Given the description of an element on the screen output the (x, y) to click on. 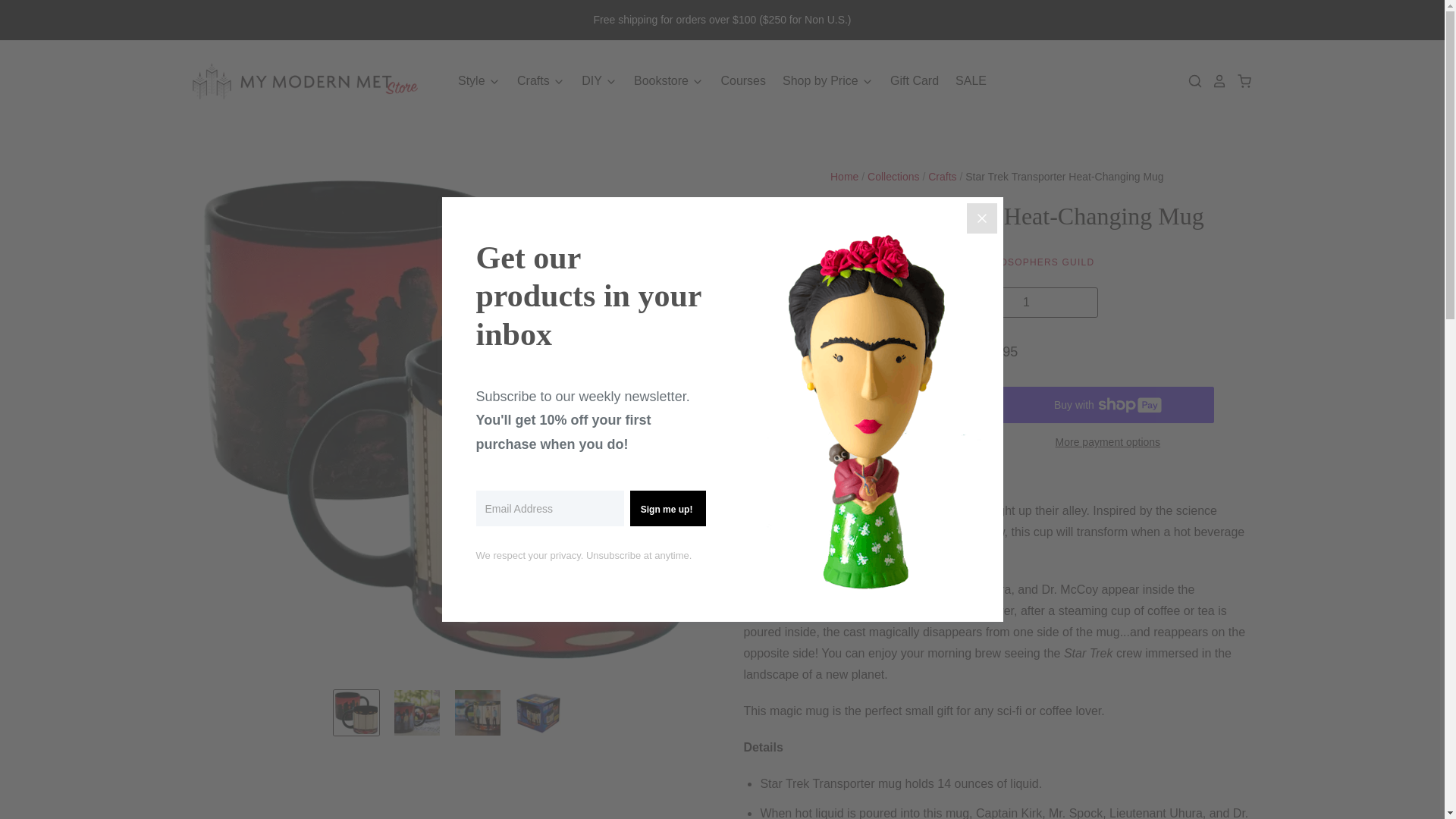
Add to cart (886, 404)
1 (1025, 302)
